Given the description of an element on the screen output the (x, y) to click on. 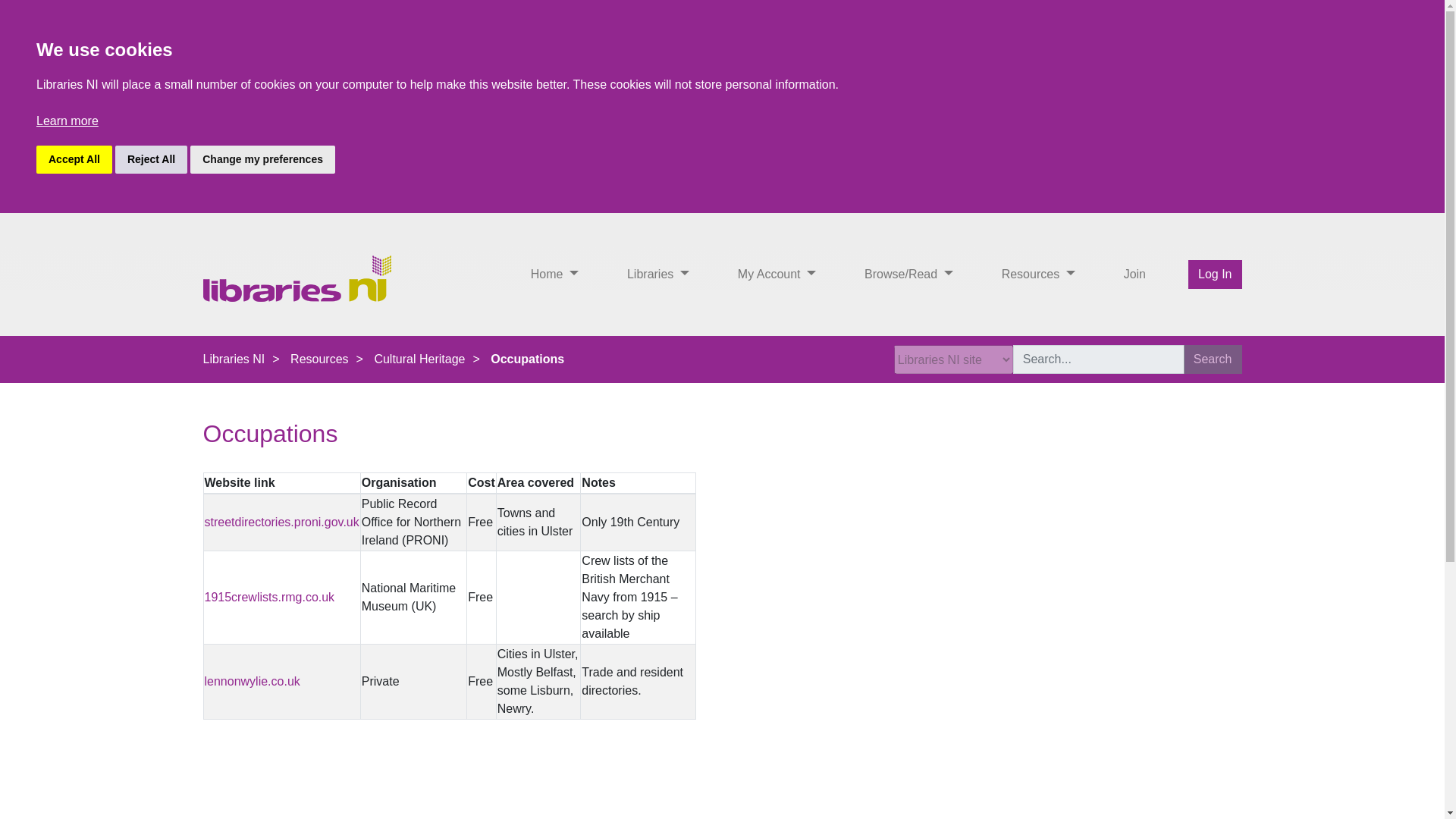
Change my preferences (262, 159)
Libraries (658, 274)
My Account (777, 274)
Reject All (151, 159)
Learn more (67, 120)
Home (554, 274)
Accept All (74, 159)
